Given the description of an element on the screen output the (x, y) to click on. 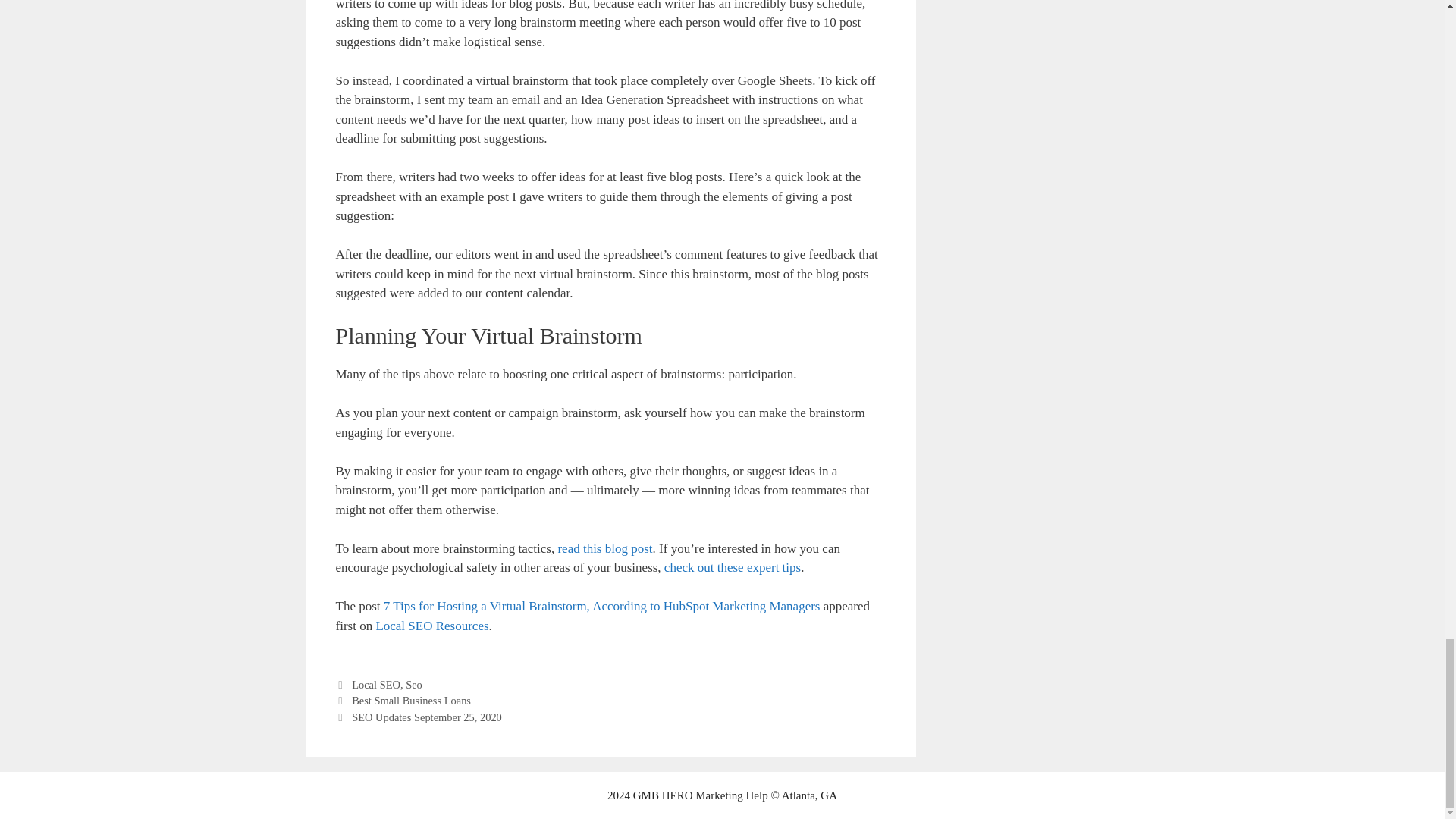
Local SEO Resources (431, 626)
Local SEO (376, 684)
check out these expert tips (731, 567)
SEO Updates September 25, 2020 (427, 717)
Marketing (718, 795)
Seo (414, 684)
read this blog post (604, 548)
Best Small Business Loans (411, 700)
